Given the description of an element on the screen output the (x, y) to click on. 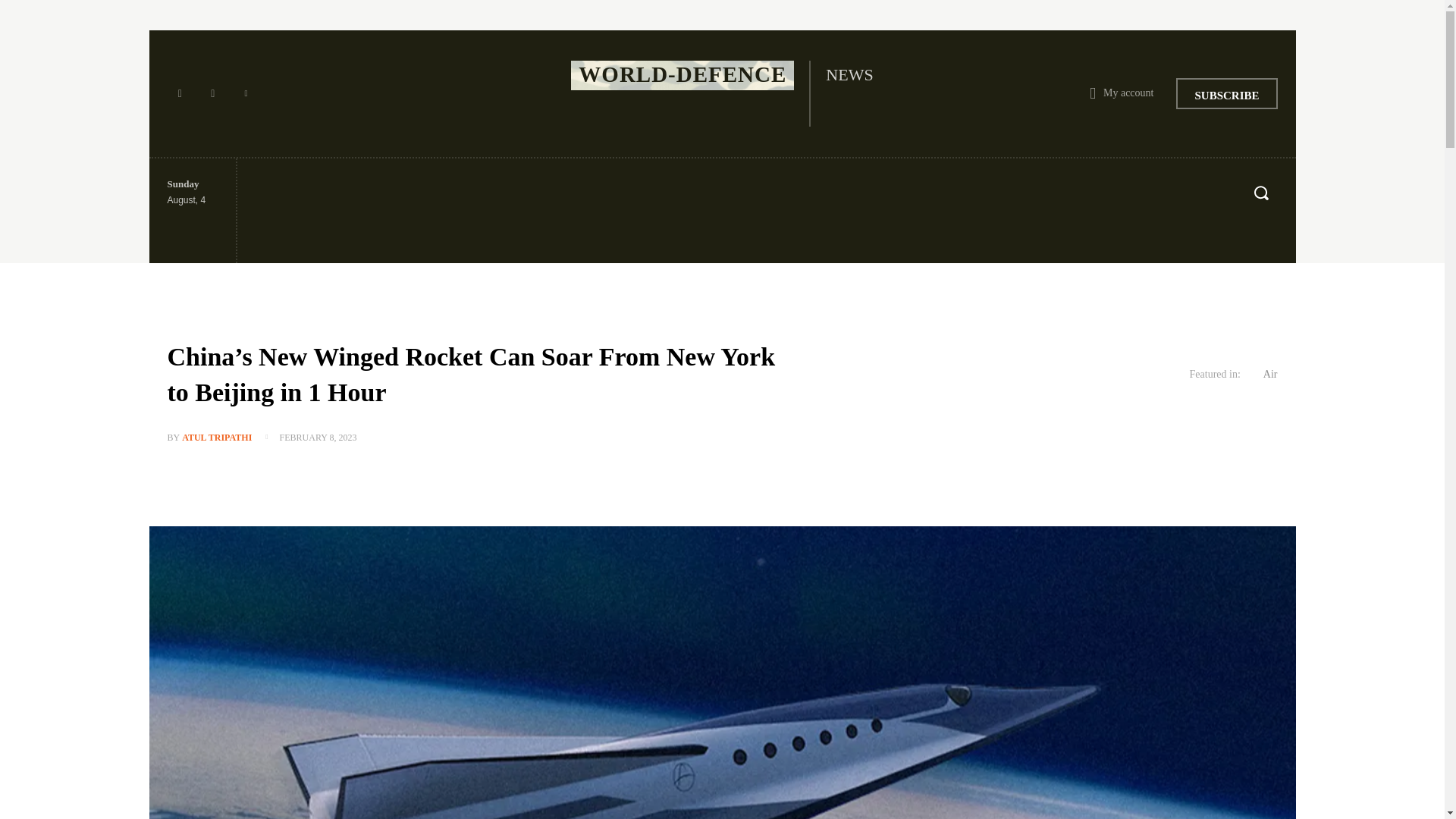
Instagram (212, 94)
Facebook (179, 94)
Linkedin (245, 94)
